Given the description of an element on the screen output the (x, y) to click on. 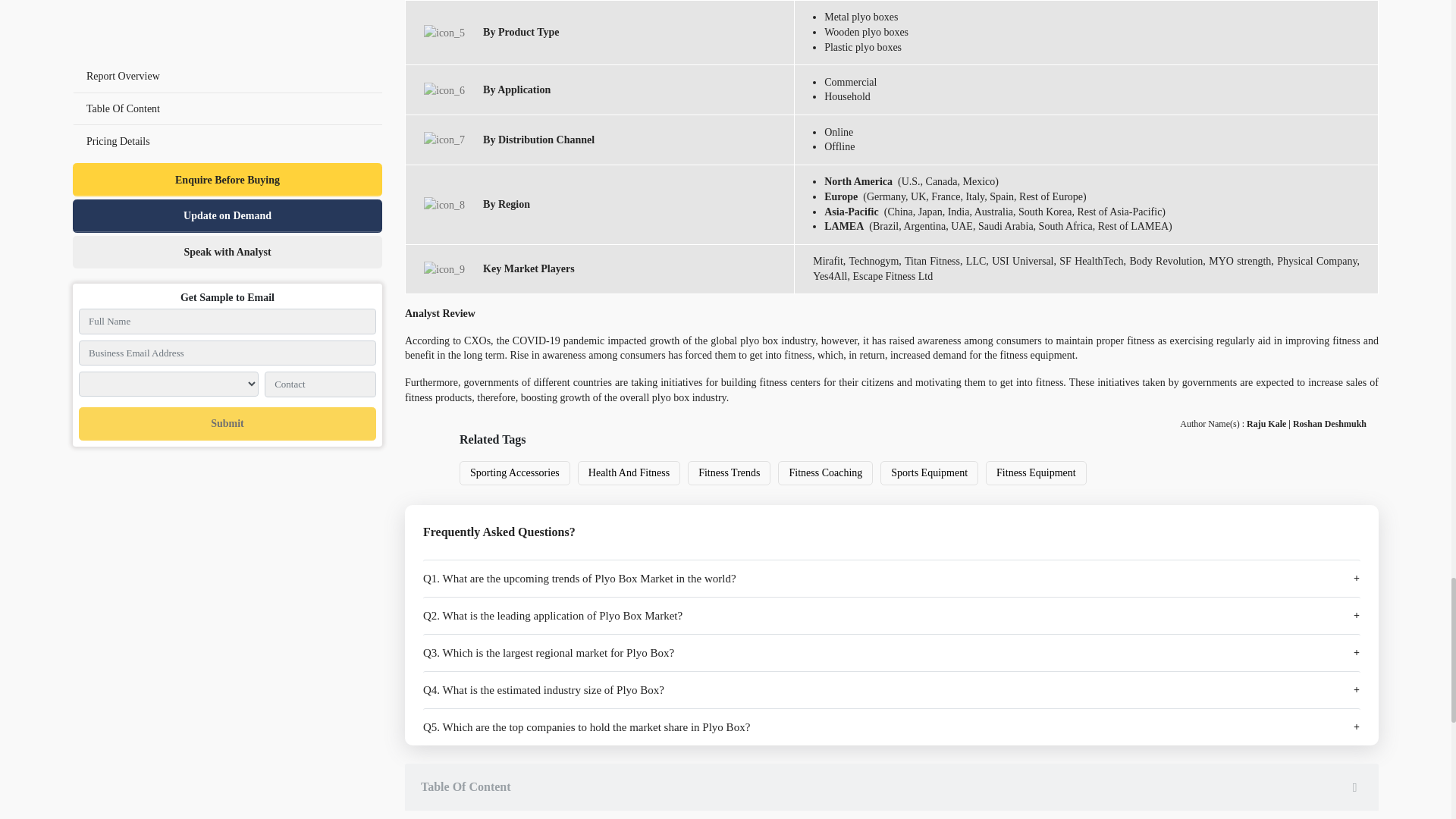
Fitness Trends (729, 472)
Key Market Players (443, 269)
Plyo Box Market By Product Type (443, 32)
Plyo Box Market By Region (443, 204)
Sporting Accessories (515, 472)
Plyo Box Market By Application (443, 89)
Health And Fitness (628, 472)
Plyo Box Market By Distribution Channel (443, 139)
